Given the description of an element on the screen output the (x, y) to click on. 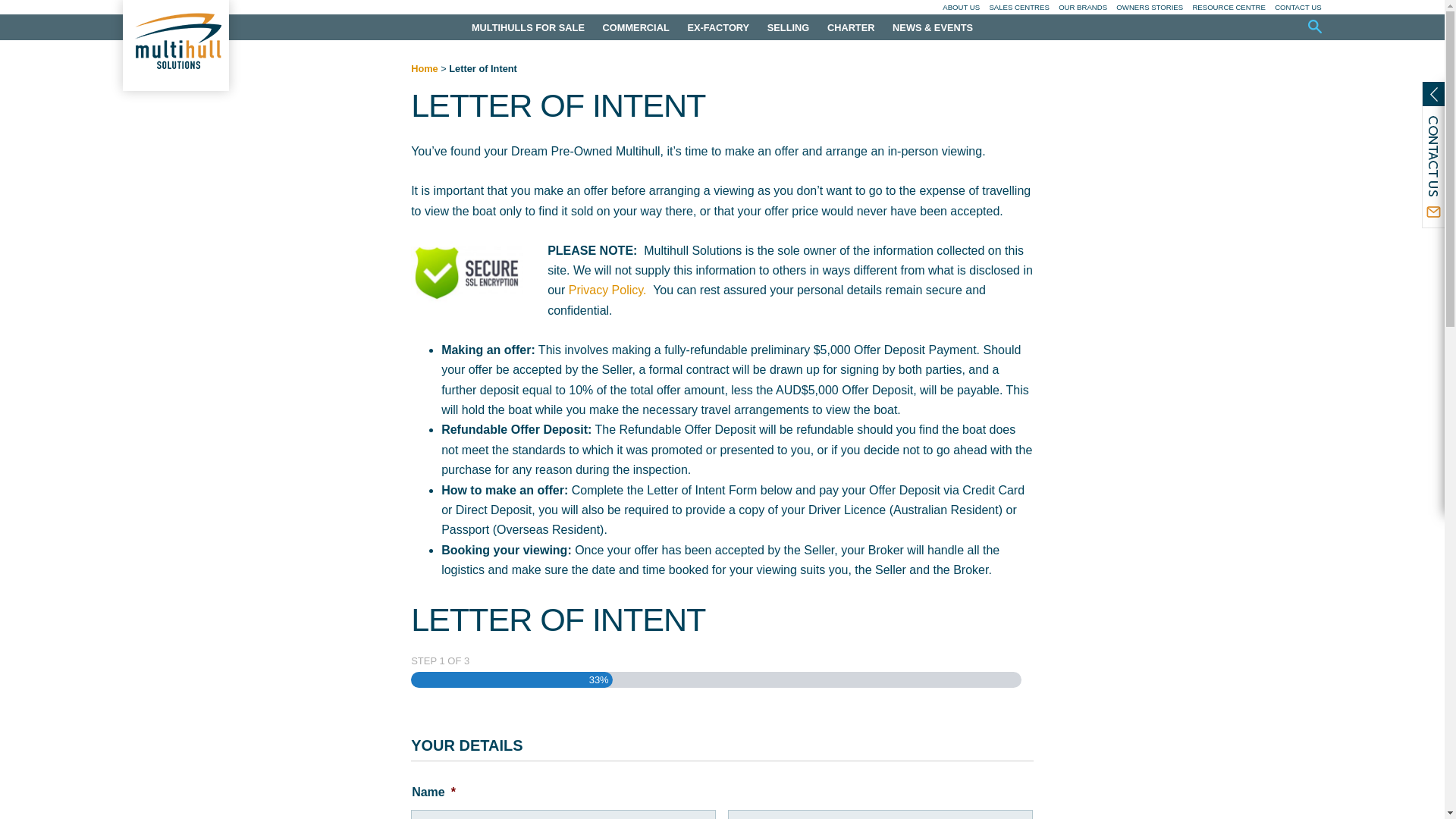
OWNERS STORIES (1149, 7)
SALES CENTRES (1018, 7)
OUR BRANDS (1082, 7)
Multihull Solutions (175, 45)
RESOURCE CENTRE (1228, 7)
ABOUT US (960, 7)
